Given the description of an element on the screen output the (x, y) to click on. 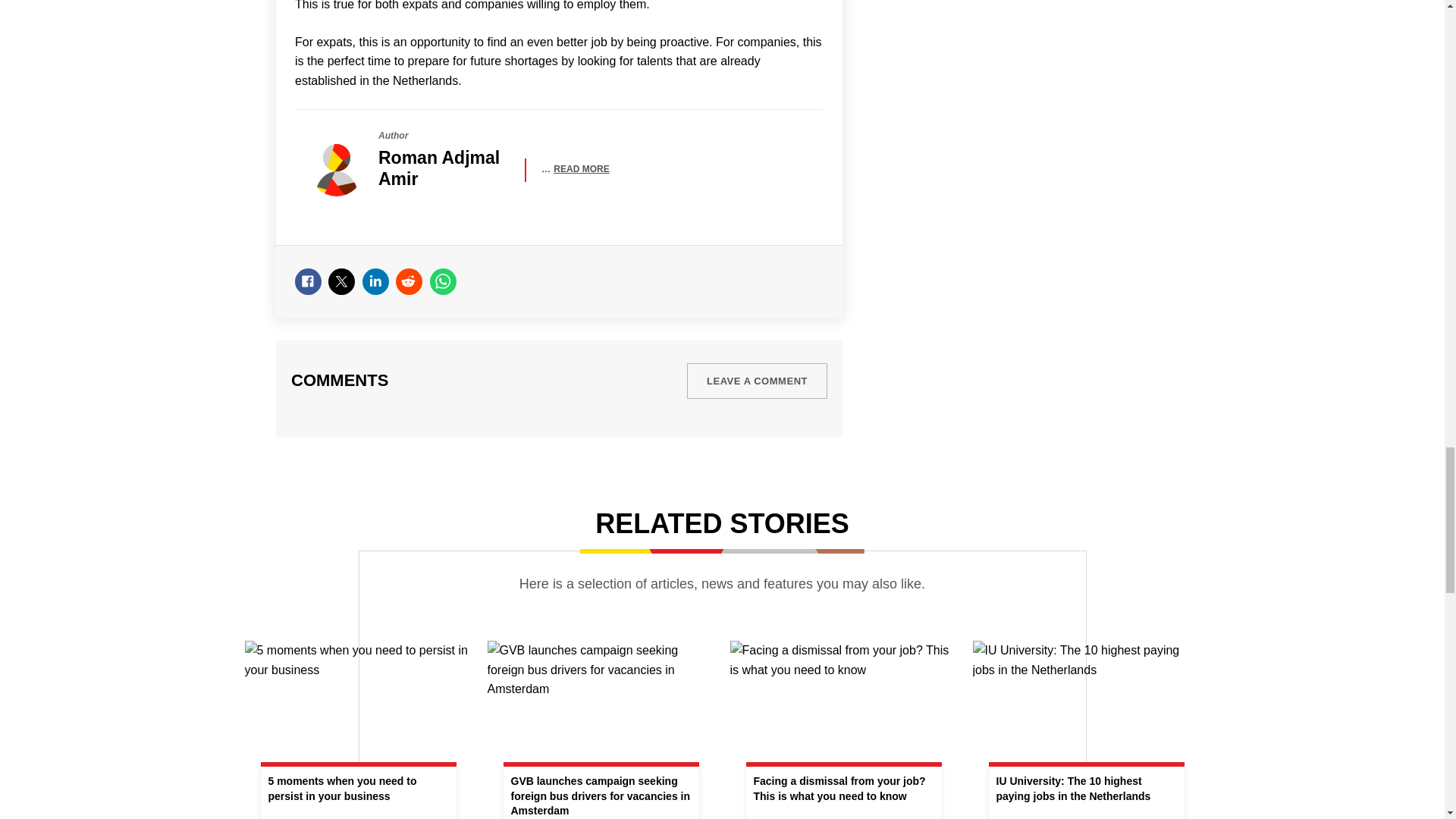
5 moments when you need to persist in your business (357, 729)
Leave a comment (757, 380)
